Given the description of an element on the screen output the (x, y) to click on. 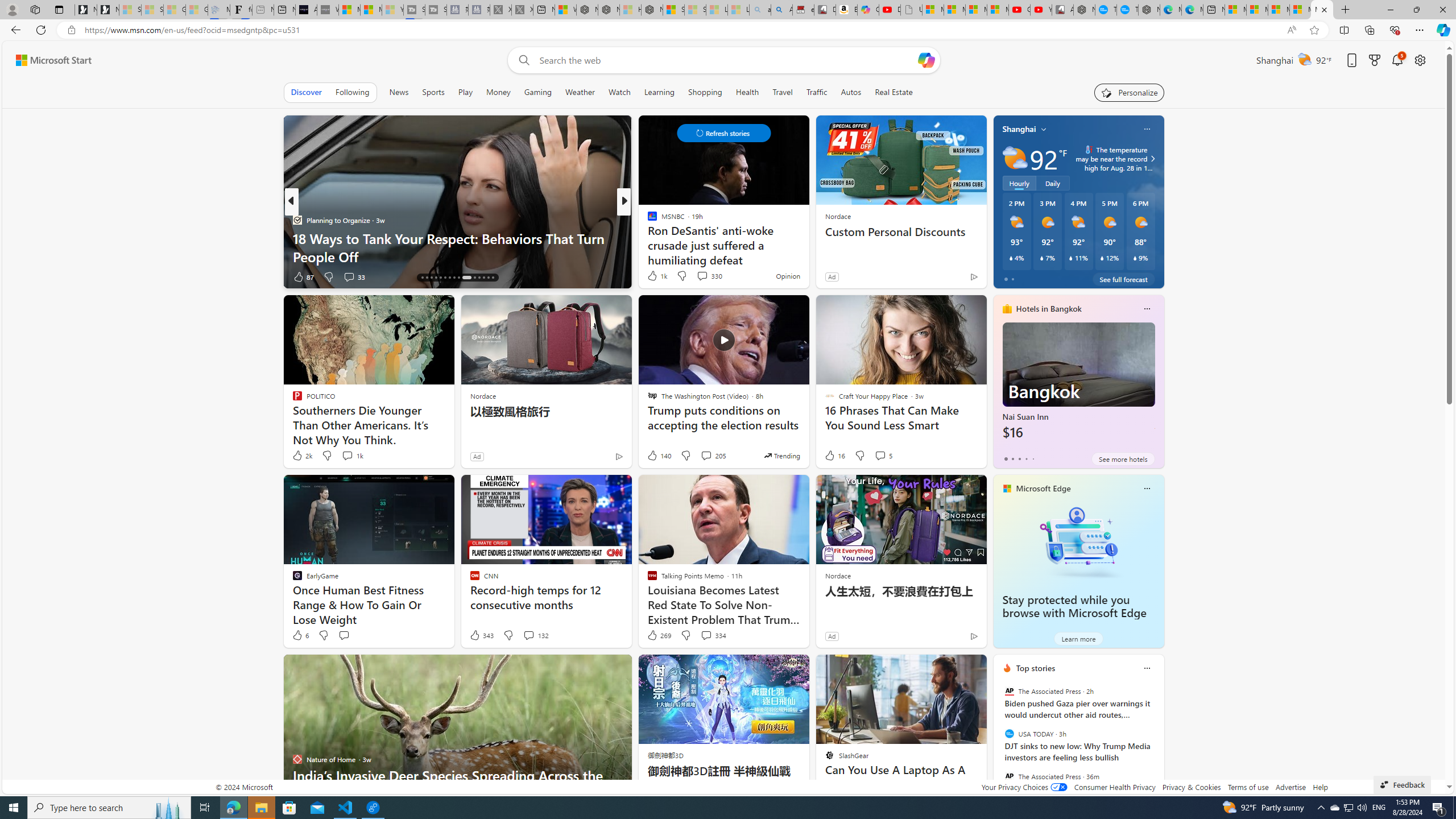
View comments 5 Comment (879, 455)
Ad (831, 636)
tab-3 (1025, 458)
All Cubot phones (1062, 9)
Hide this story (952, 668)
News (398, 92)
View comments 33 Comment (353, 276)
18 Ways to Tank Your Respect: Behaviors That Turn People Off (457, 247)
Dangerous heat to head to Northeast after slamming Midwest (807, 247)
Personal Profile (12, 9)
Tab actions menu (58, 9)
Open Copilot (926, 59)
Sports (432, 92)
